Given the description of an element on the screen output the (x, y) to click on. 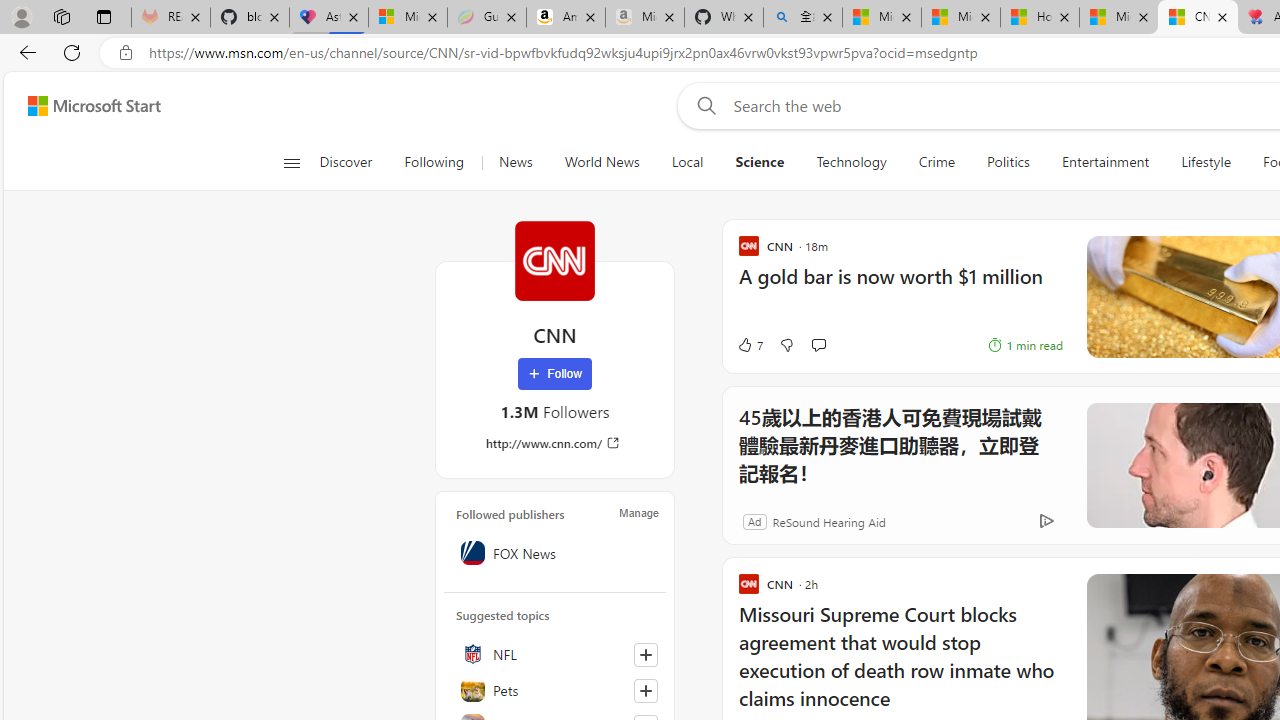
http://www.cnn.com/ (554, 443)
How I Got Rid of Microsoft Edge's Unnecessary Features (1040, 17)
NFL (555, 654)
7 Like (749, 344)
